Given the description of an element on the screen output the (x, y) to click on. 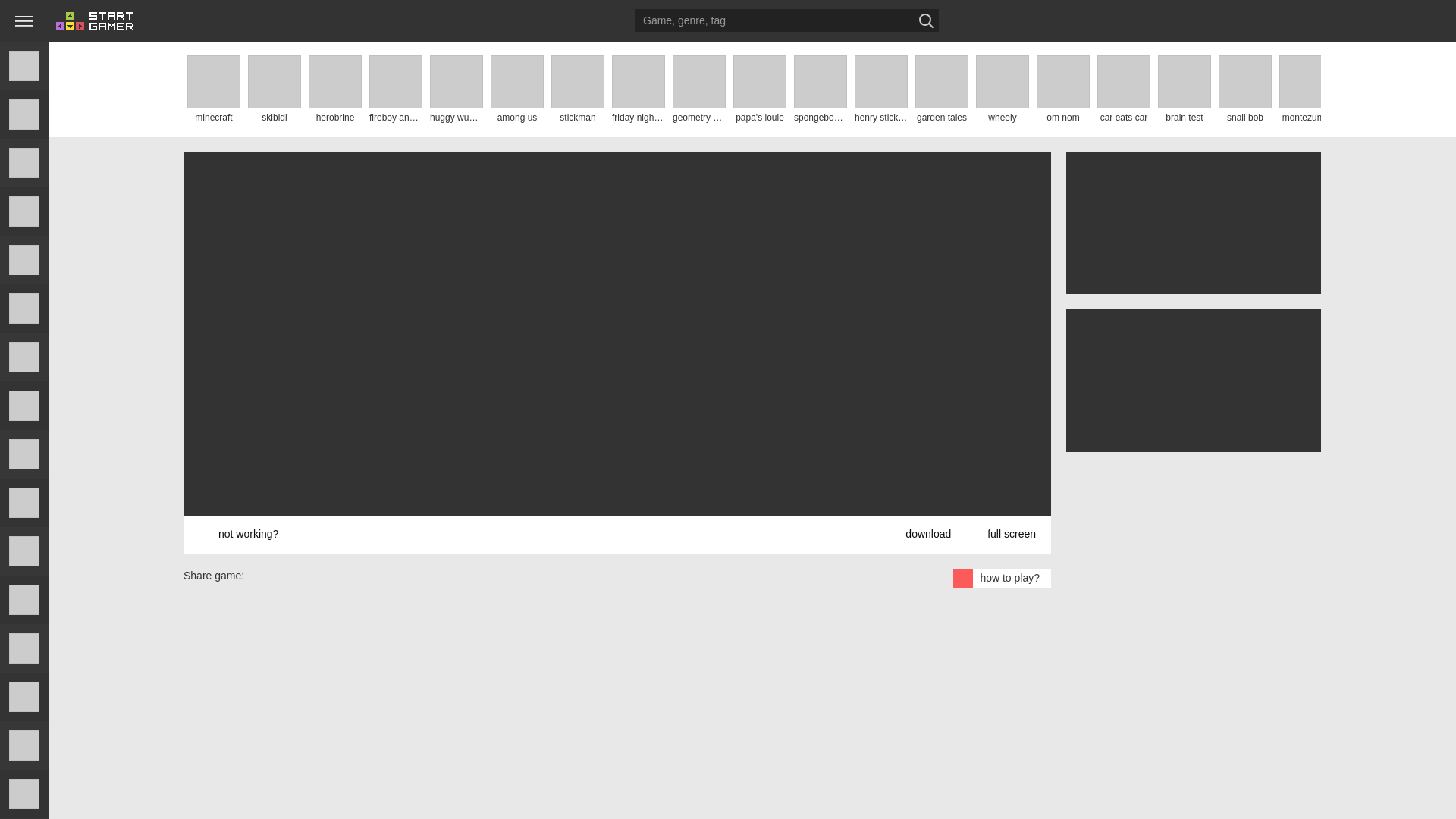
farm (24, 502)
tetris (24, 405)
mahjong (24, 162)
find items (24, 793)
StartGamer.net - online games (94, 21)
New (24, 65)
jigsaw puzzles (24, 599)
simple (24, 551)
Best (24, 114)
